Given the description of an element on the screen output the (x, y) to click on. 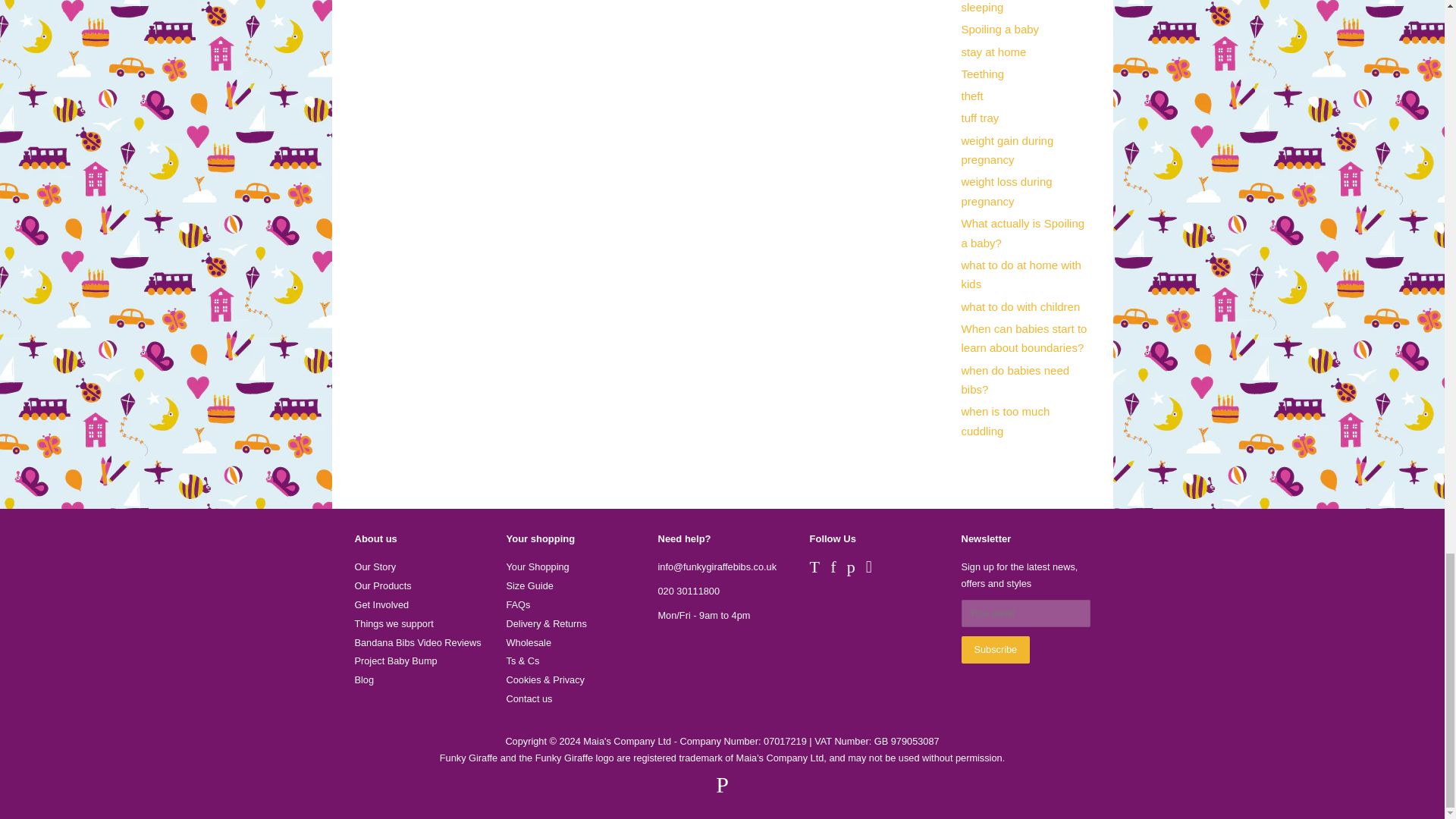
Subscribe (995, 649)
